Given the description of an element on the screen output the (x, y) to click on. 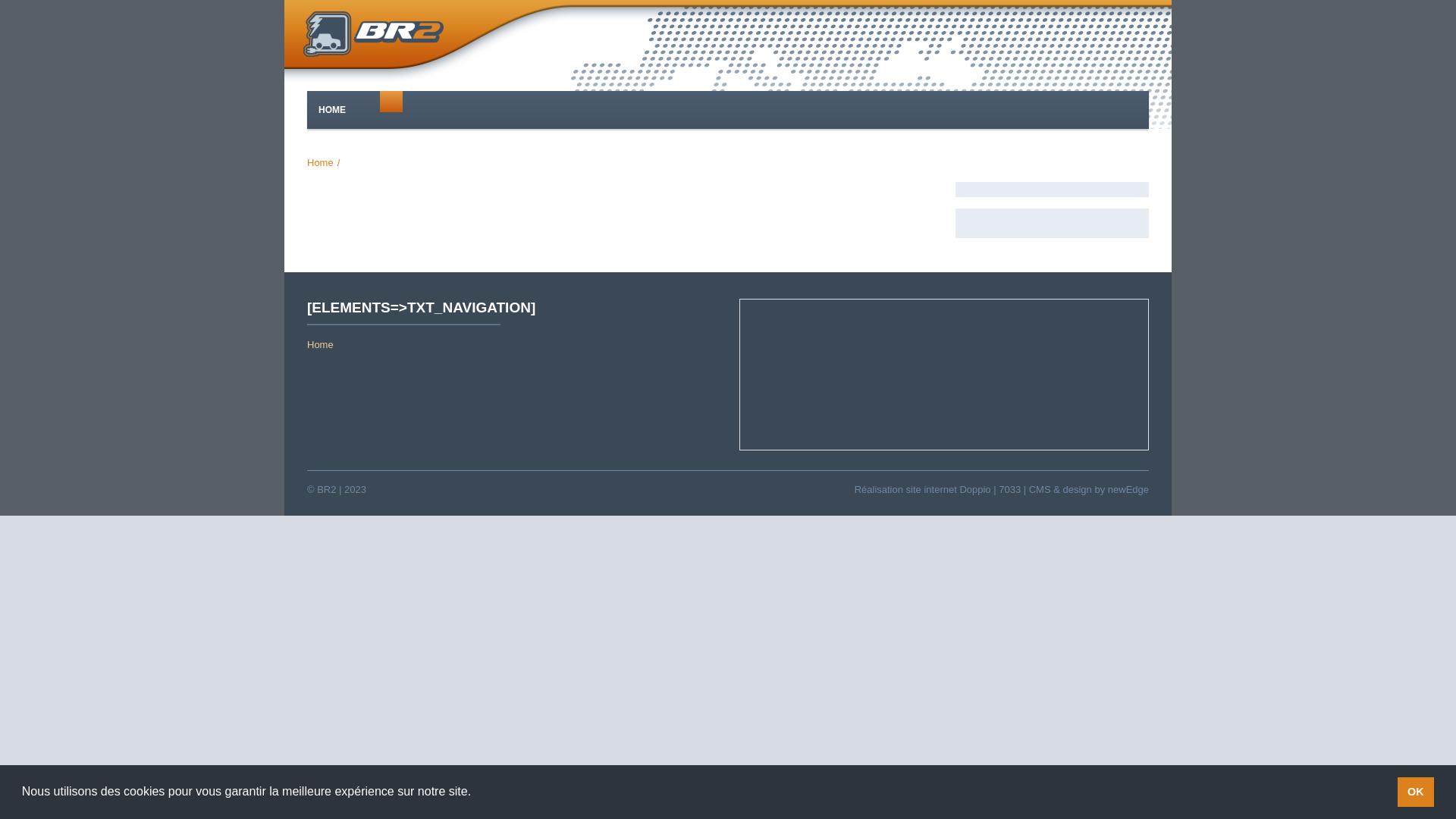
newEdge Element type: text (1127, 489)
Doppio Element type: text (974, 489)
Home Element type: text (320, 162)
Home Element type: text (320, 344)
HOME Element type: text (332, 109)
OK Element type: text (1415, 791)
